Given the description of an element on the screen output the (x, y) to click on. 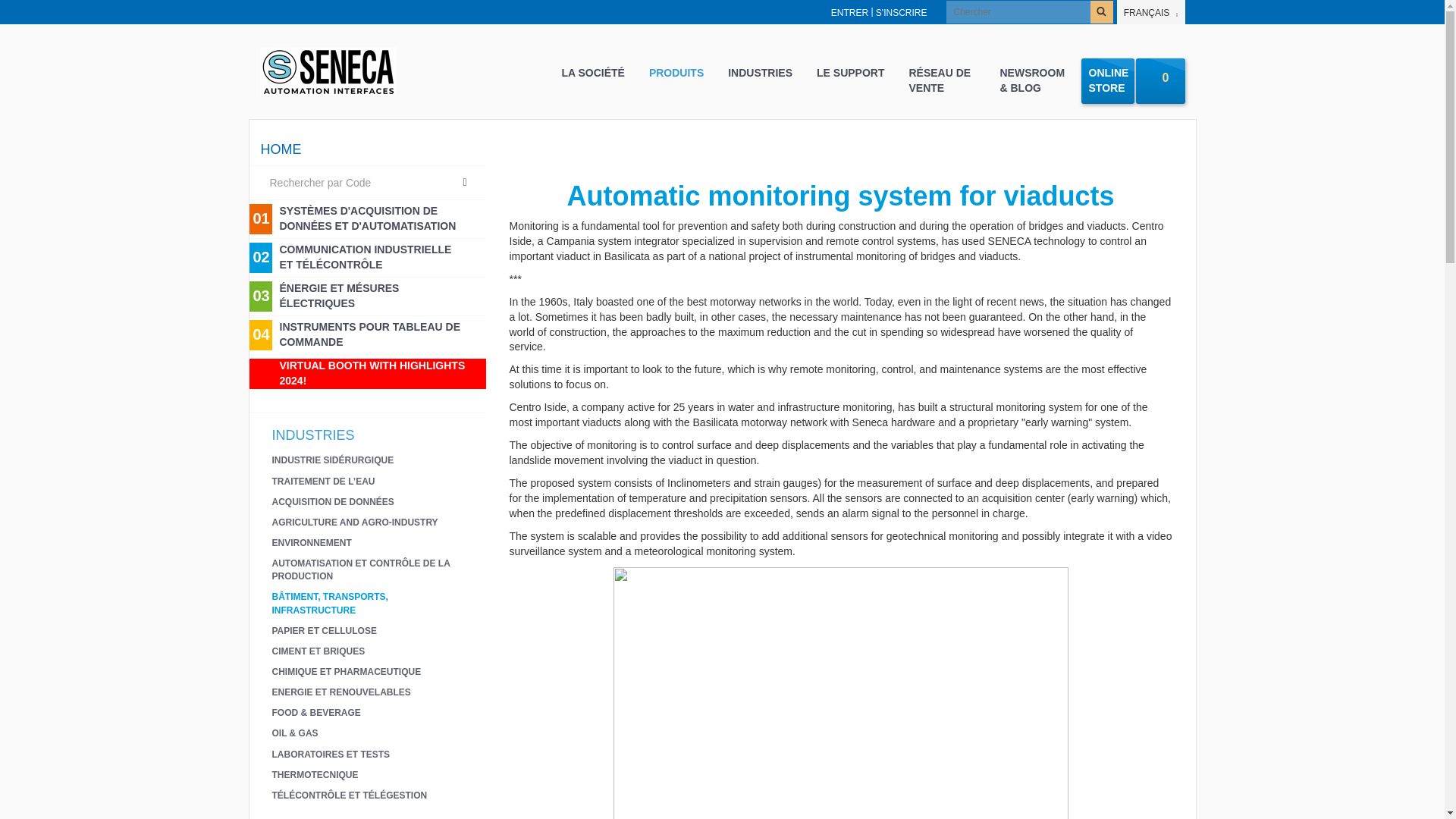
WWW.SENECA-IES.IT (389, 12)
ENTRER (849, 12)
S'INSCRIRE (901, 12)
PRODUITS (675, 73)
WWW.SENECA.IT (296, 12)
